Given the description of an element on the screen output the (x, y) to click on. 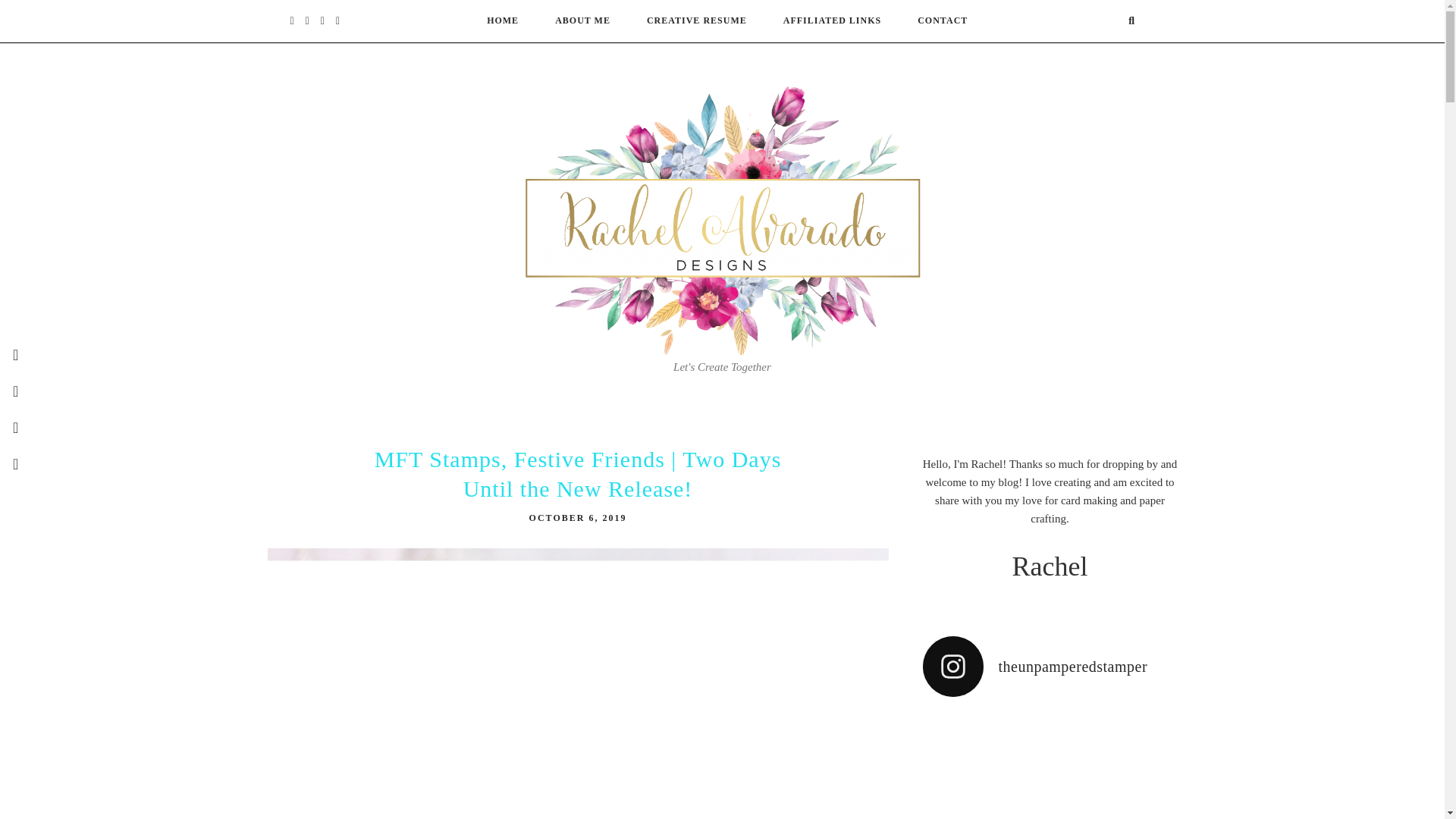
CONTACT (942, 20)
AFFILIATED LINKS (831, 20)
ABOUT ME (582, 20)
CREATIVE RESUME (696, 20)
